Given the description of an element on the screen output the (x, y) to click on. 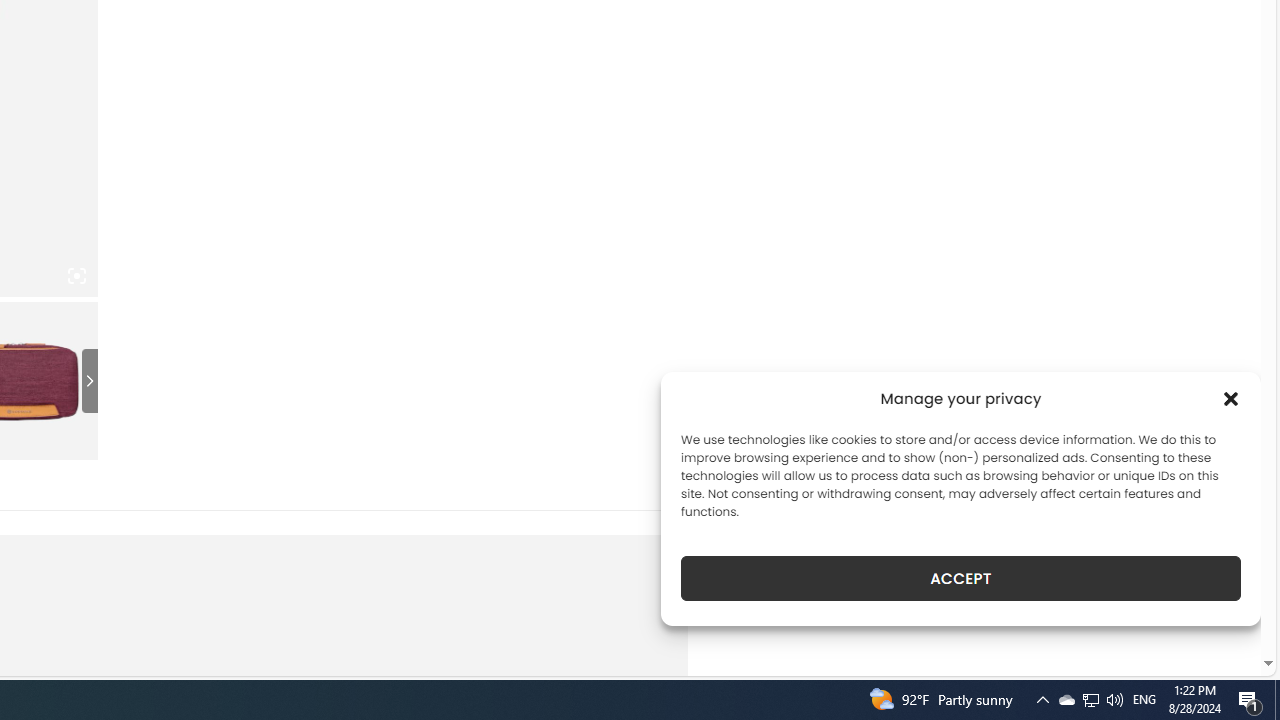
ACCEPT (960, 578)
Class: cmplz-close (1231, 398)
Class: iconic-woothumbs-fullscreen (75, 276)
